Given the description of an element on the screen output the (x, y) to click on. 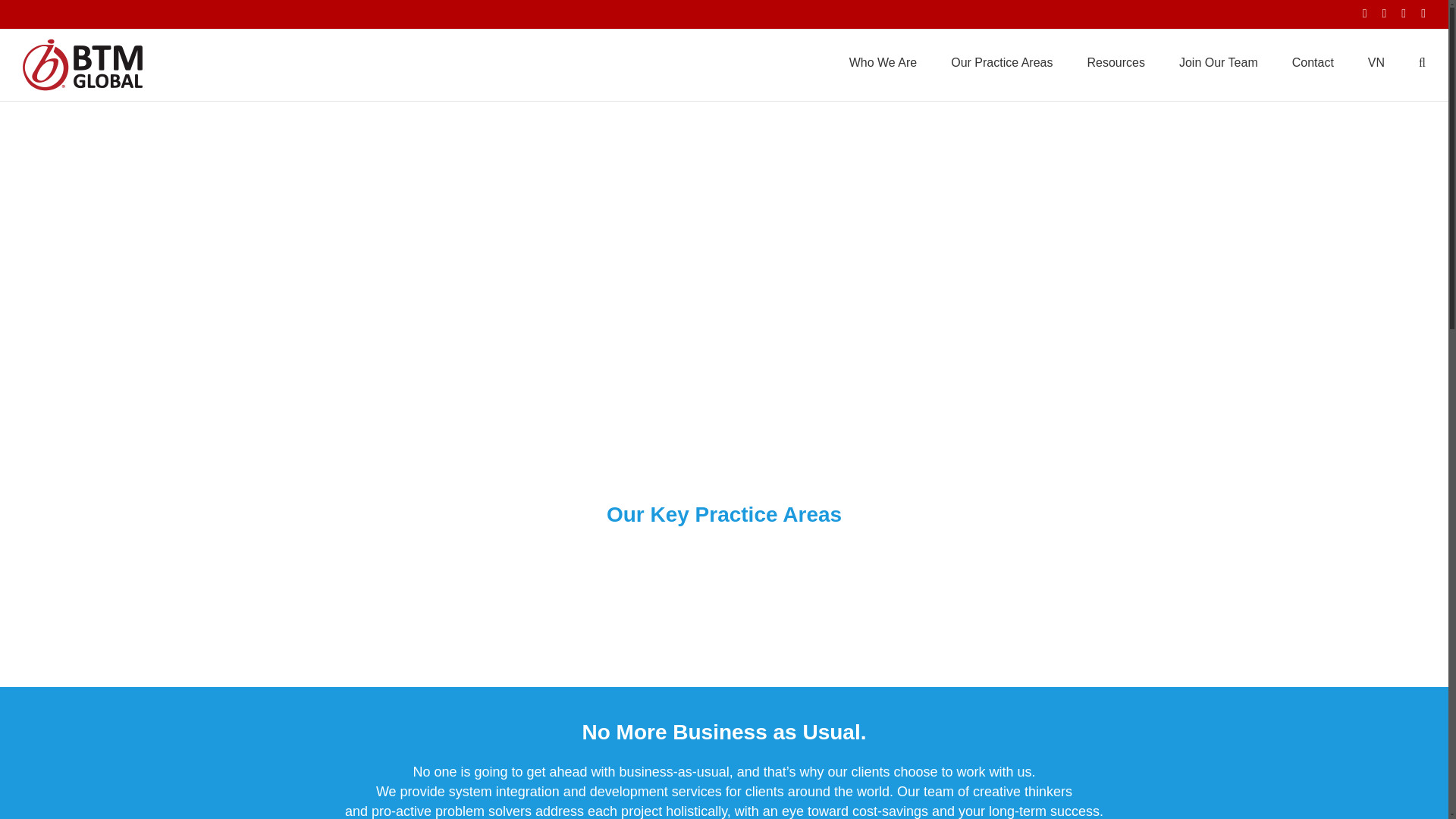
Our Practice Areas (1001, 61)
Who We Are (882, 61)
Join Our Team (1218, 61)
Resources (1115, 61)
